Given the description of an element on the screen output the (x, y) to click on. 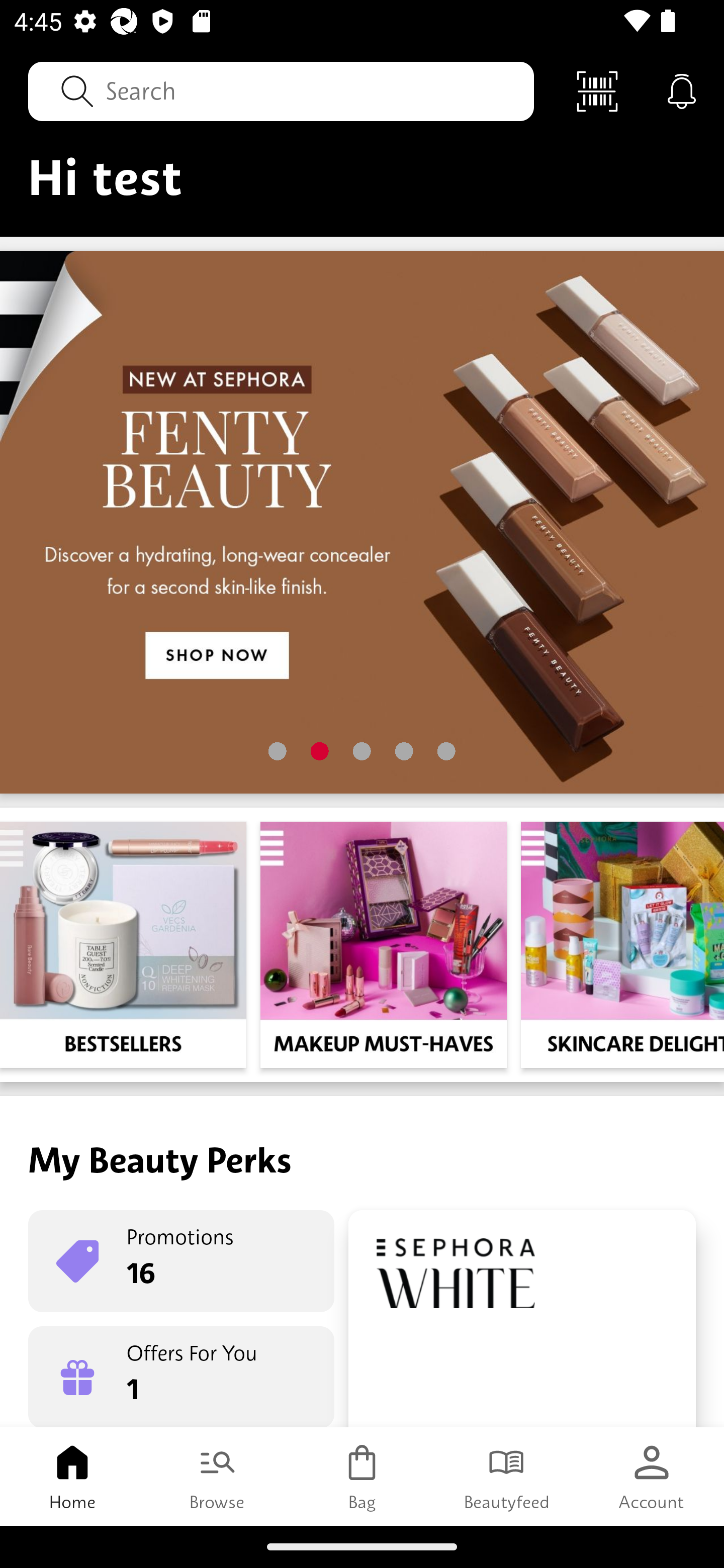
Scan Code (597, 90)
Notifications (681, 90)
Search (281, 90)
Promotions 16 (181, 1261)
Rewards Boutique 90 Pts (521, 1318)
Offers For You 1 (181, 1376)
Browse (216, 1475)
Bag (361, 1475)
Beautyfeed (506, 1475)
Account (651, 1475)
